Given the description of an element on the screen output the (x, y) to click on. 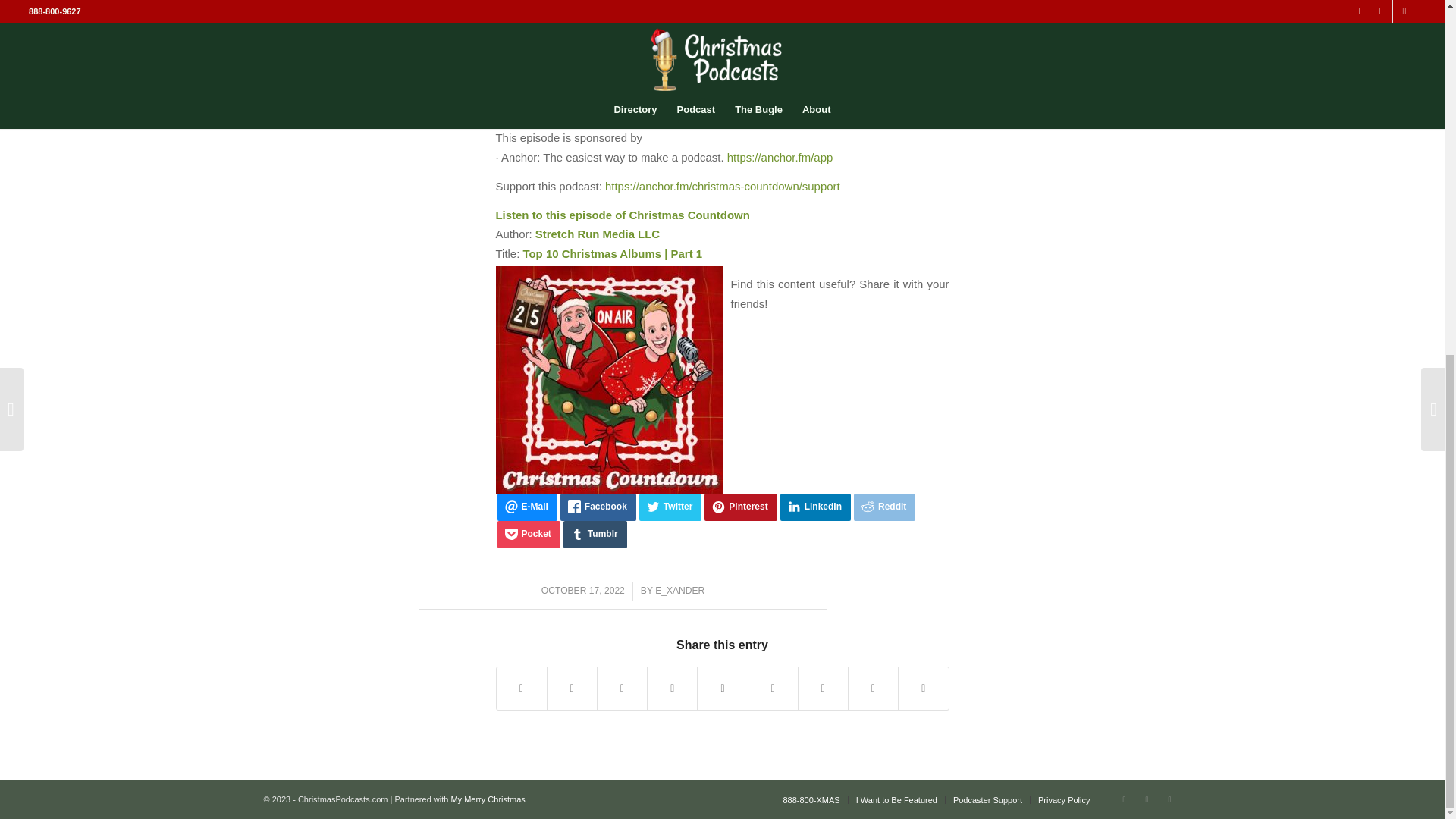
Listen to this episode of Christmas Countdown (622, 214)
HERE (647, 4)
